Given the description of an element on the screen output the (x, y) to click on. 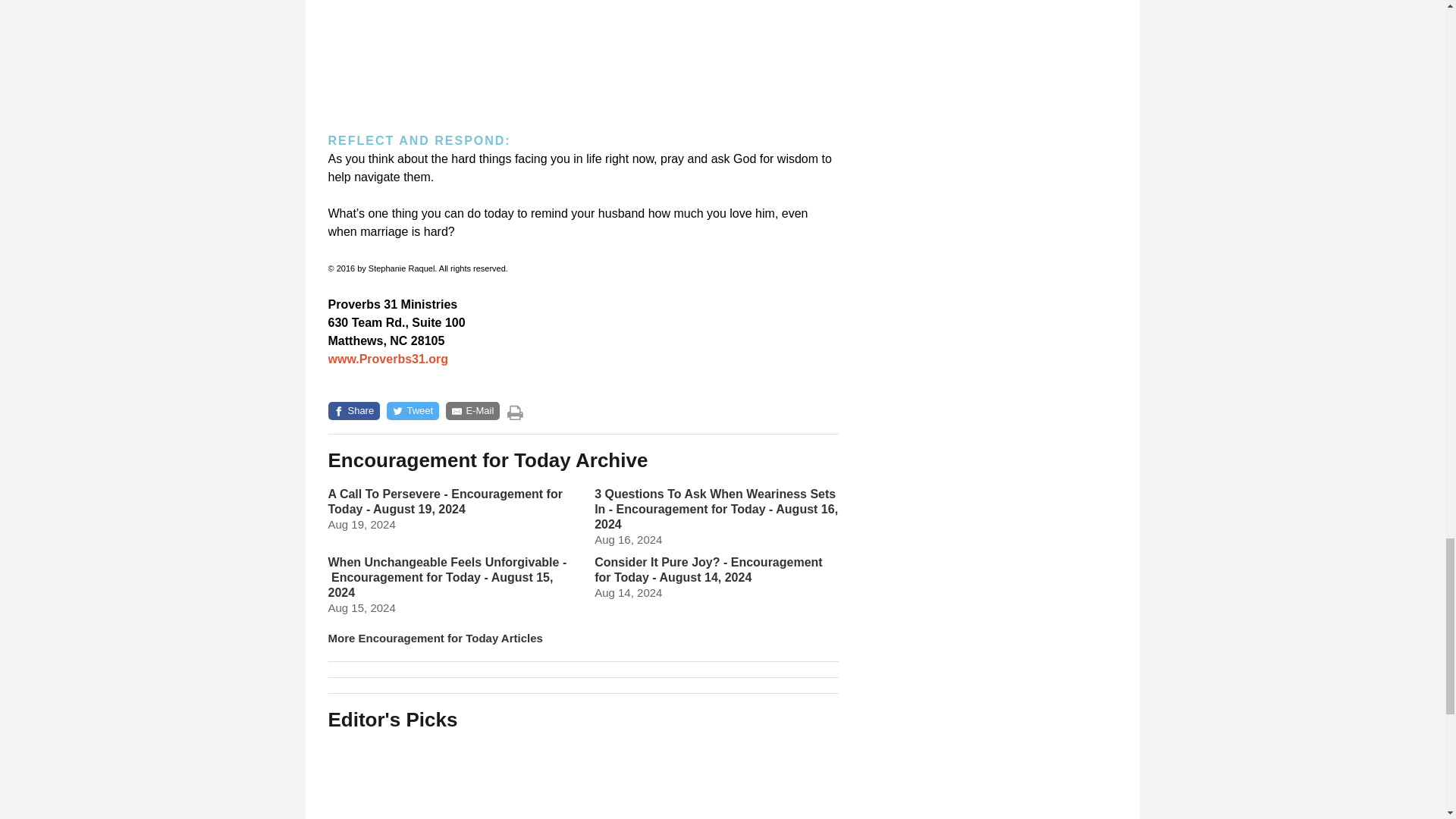
A 7-Day Guide to Praying over Your Spouse (583, 778)
7 Paths to a Judgment-Free Mindset (760, 778)
5 Valuable Life Lessons to Teach Your Children (404, 778)
